Given the description of an element on the screen output the (x, y) to click on. 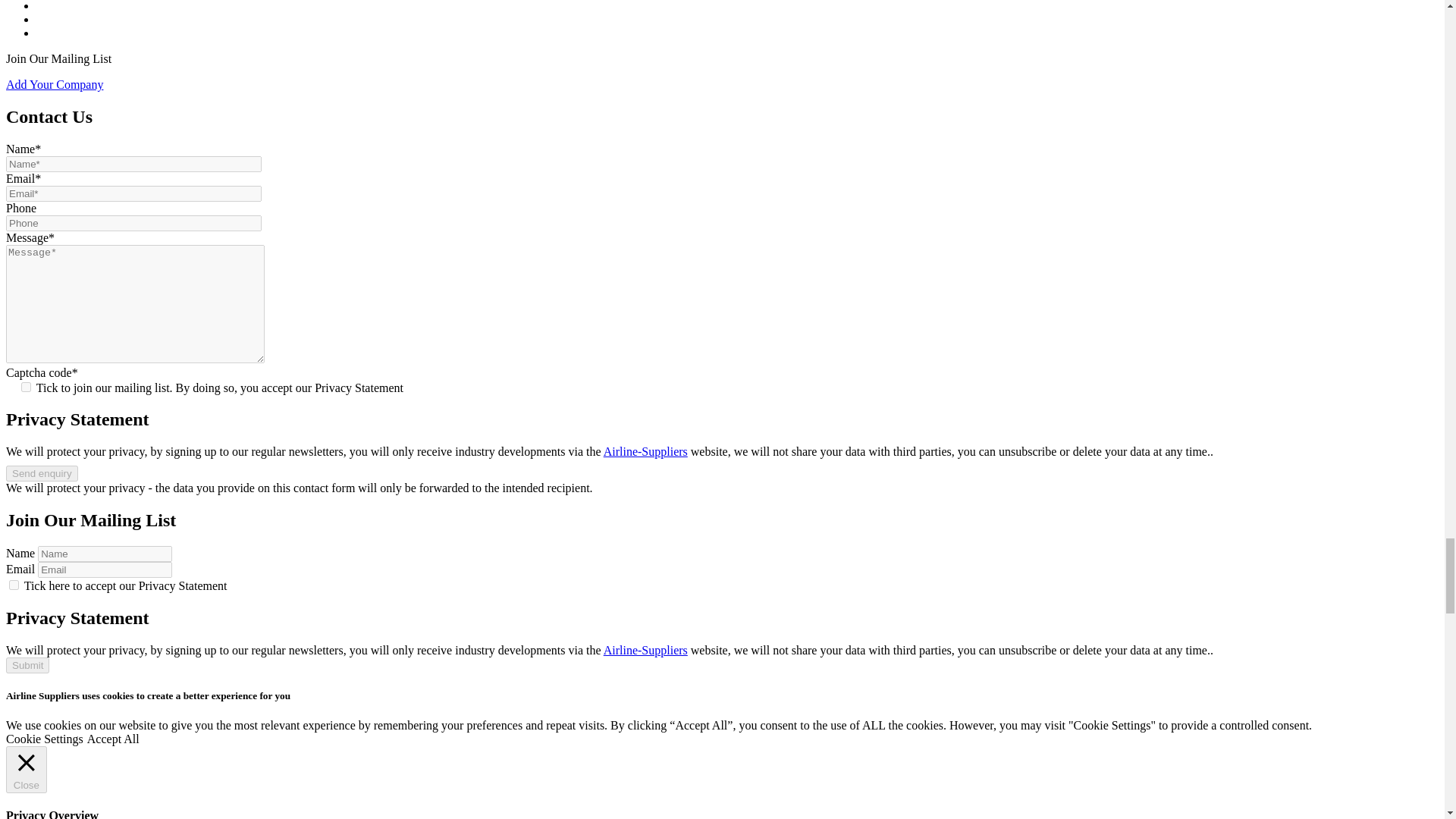
Send enquiry (41, 473)
on (13, 584)
Tick to join our mailing list. (25, 387)
